Given the description of an element on the screen output the (x, y) to click on. 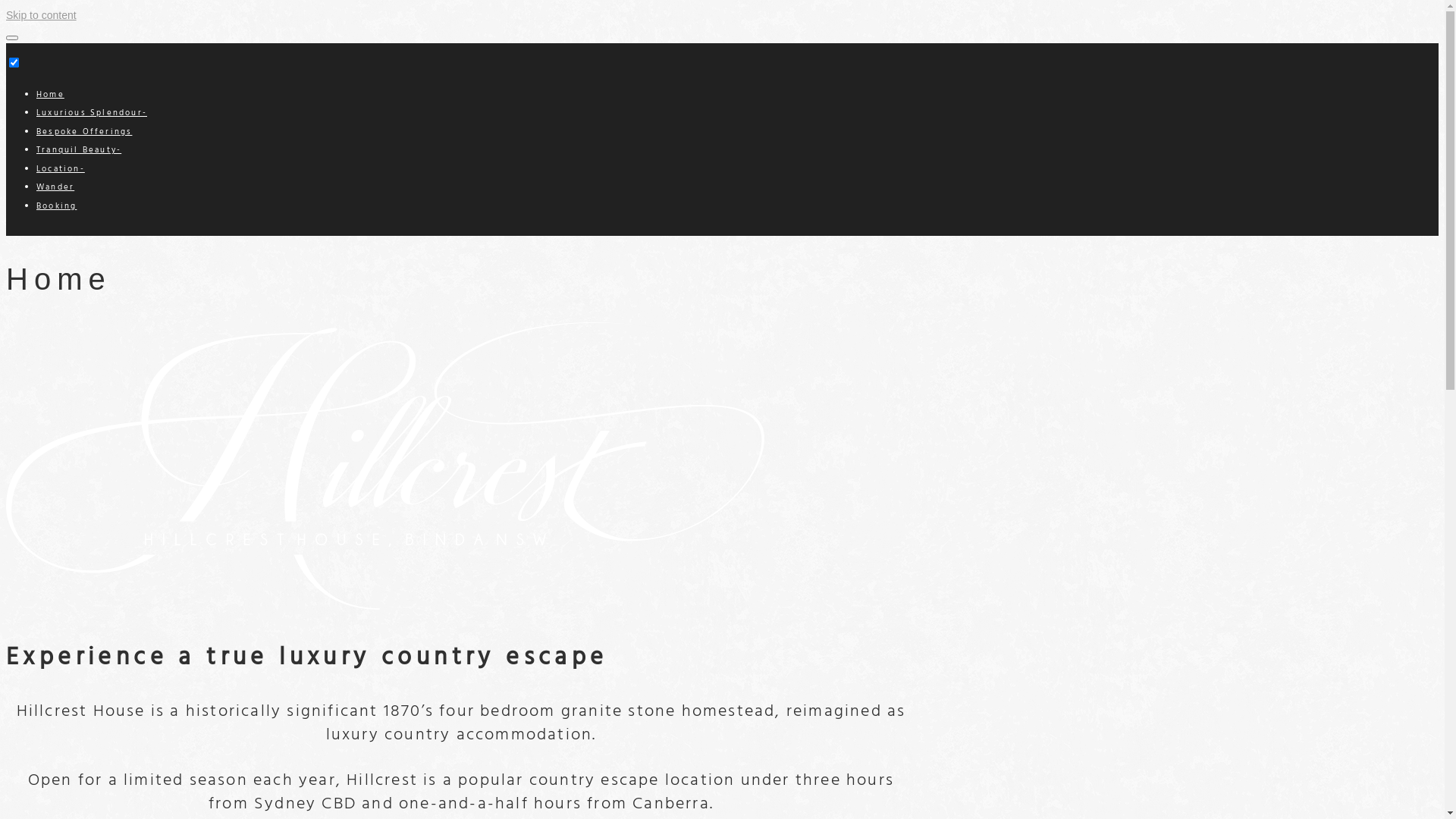
Bespoke Offerings Element type: text (83, 131)
Wander Element type: text (55, 187)
Tranquil Beauty- Element type: text (78, 149)
Location- Element type: text (60, 168)
Luxurious Splendour- Element type: text (91, 112)
Home Element type: text (50, 94)
Skip to content Element type: text (41, 15)
Booking Element type: text (56, 205)
